Given the description of an element on the screen output the (x, y) to click on. 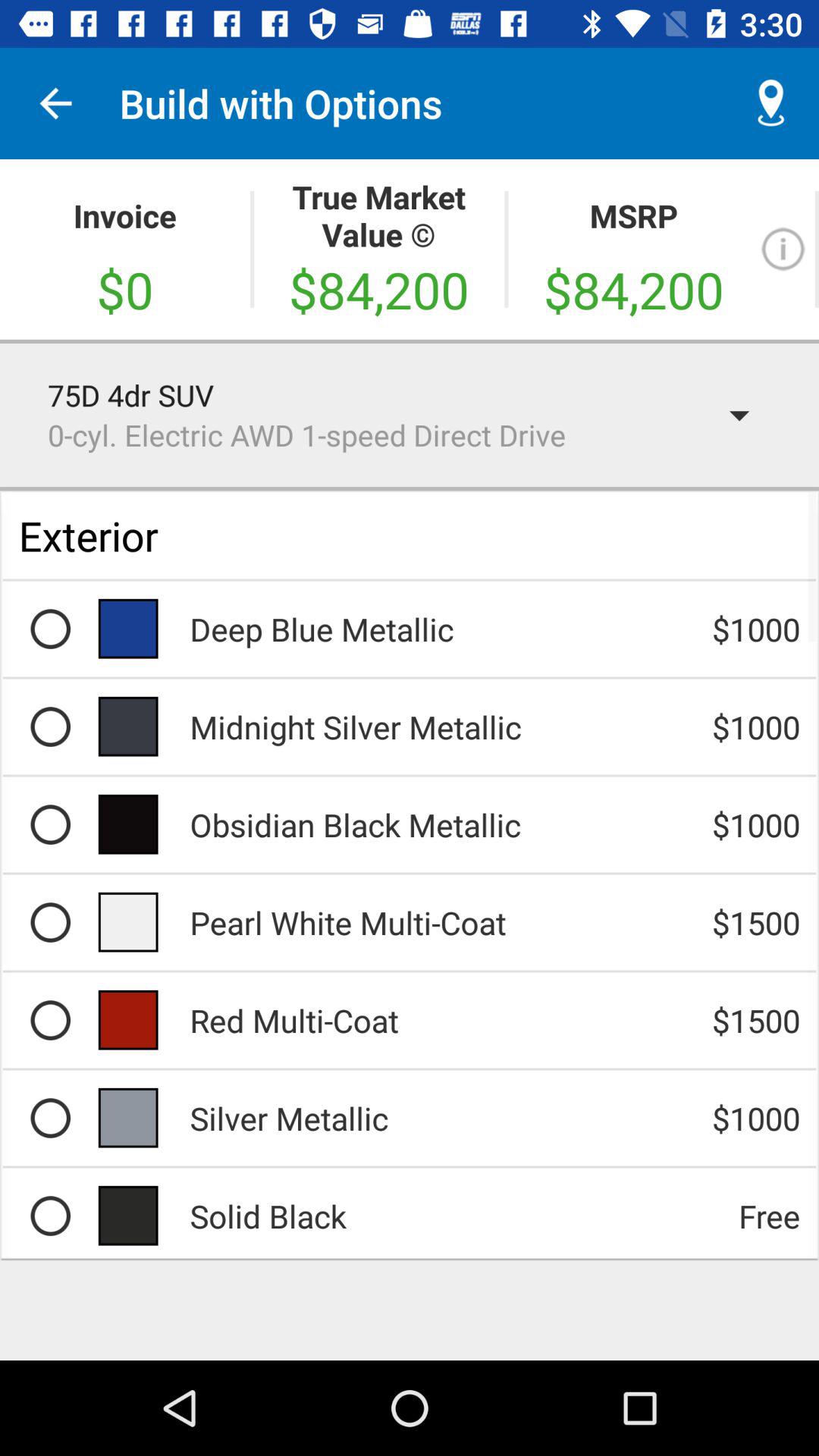
go to update (783, 249)
